Given the description of an element on the screen output the (x, y) to click on. 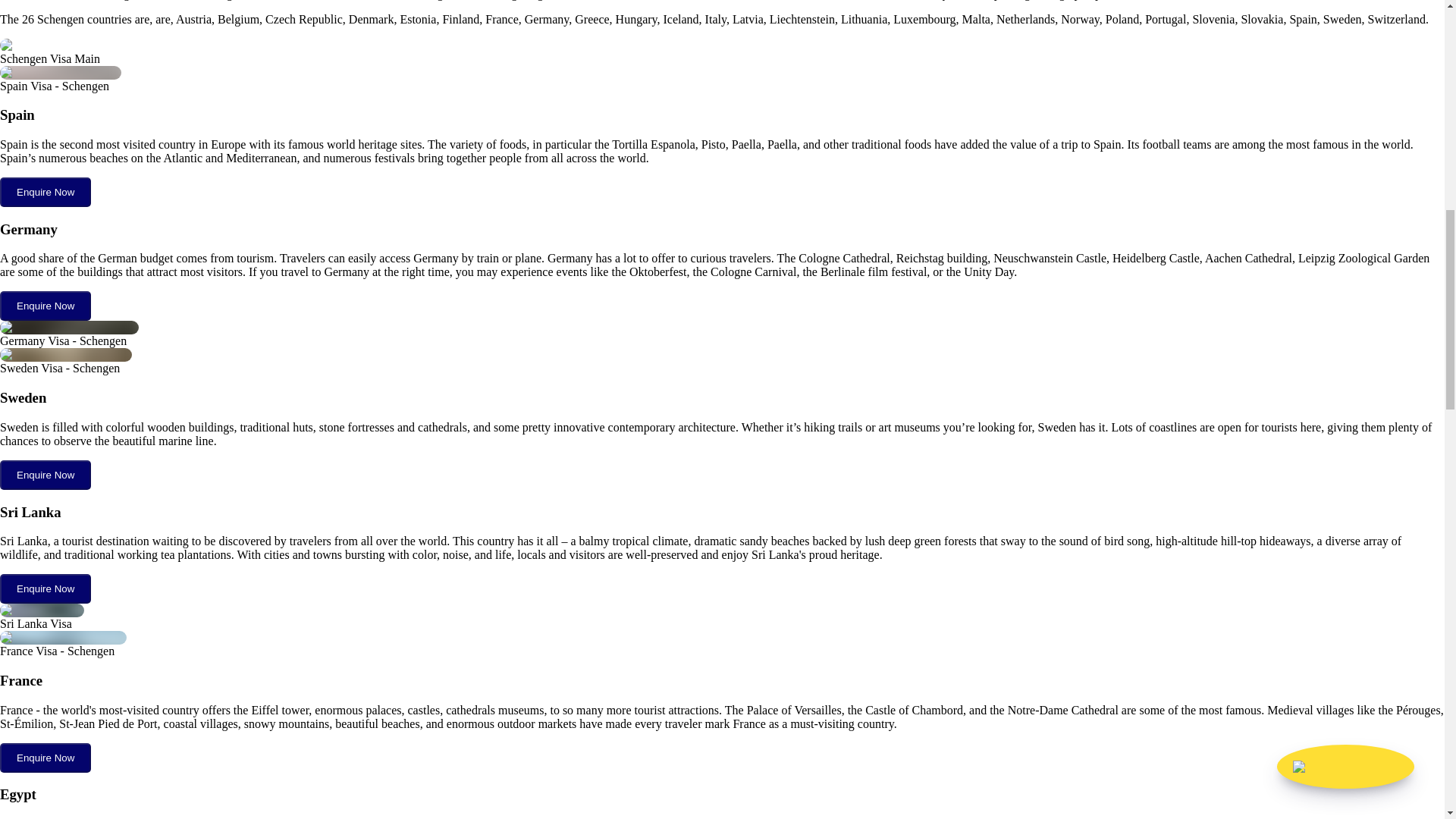
Enquire Now (45, 474)
Enquire Now (45, 588)
Enquire Now (45, 757)
Enquire Now (45, 192)
Enquire Now (45, 473)
Enquire Now (45, 191)
Enquire Now (45, 757)
Enquire Now (45, 587)
Enquire Now (45, 305)
Enquire Now (45, 306)
